Given the description of an element on the screen output the (x, y) to click on. 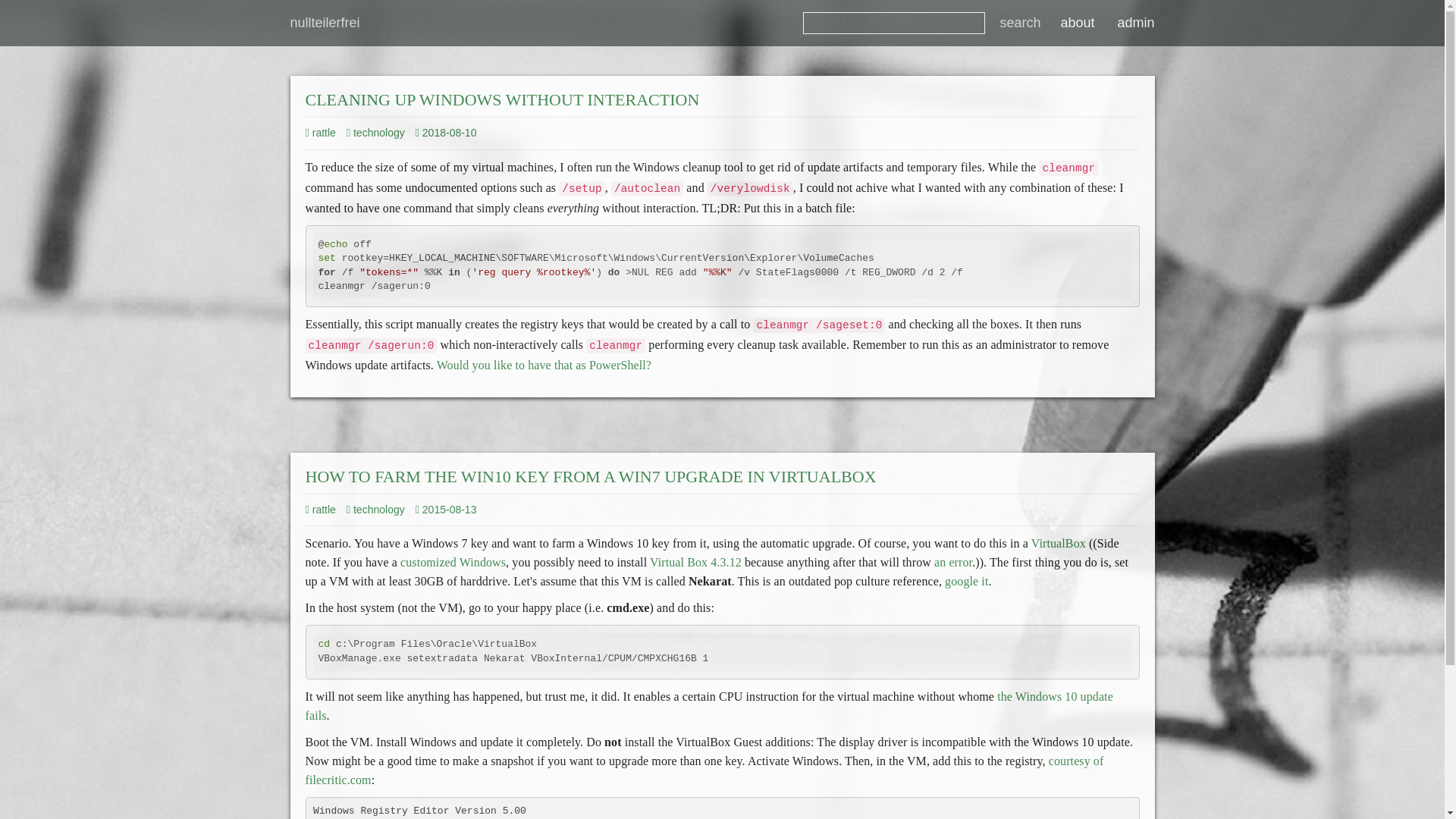
Would you like to have that as PowerShell? (543, 364)
an error (953, 562)
courtesy of filecritic.com (703, 770)
 about (1075, 22)
search (1019, 22)
2018-08-10 (449, 132)
rattle (319, 132)
admin (1135, 22)
Cleaning Up Windows Without Interaction (501, 99)
search (1019, 22)
2015-08-13 (449, 509)
the Windows 10 update fails (708, 705)
about (1075, 22)
HOW TO FARM THE WIN10 KEY FROM A WIN7 UPGRADE IN VIRTUALBOX (590, 476)
nullteilerfrei (325, 22)
